Given the description of an element on the screen output the (x, y) to click on. 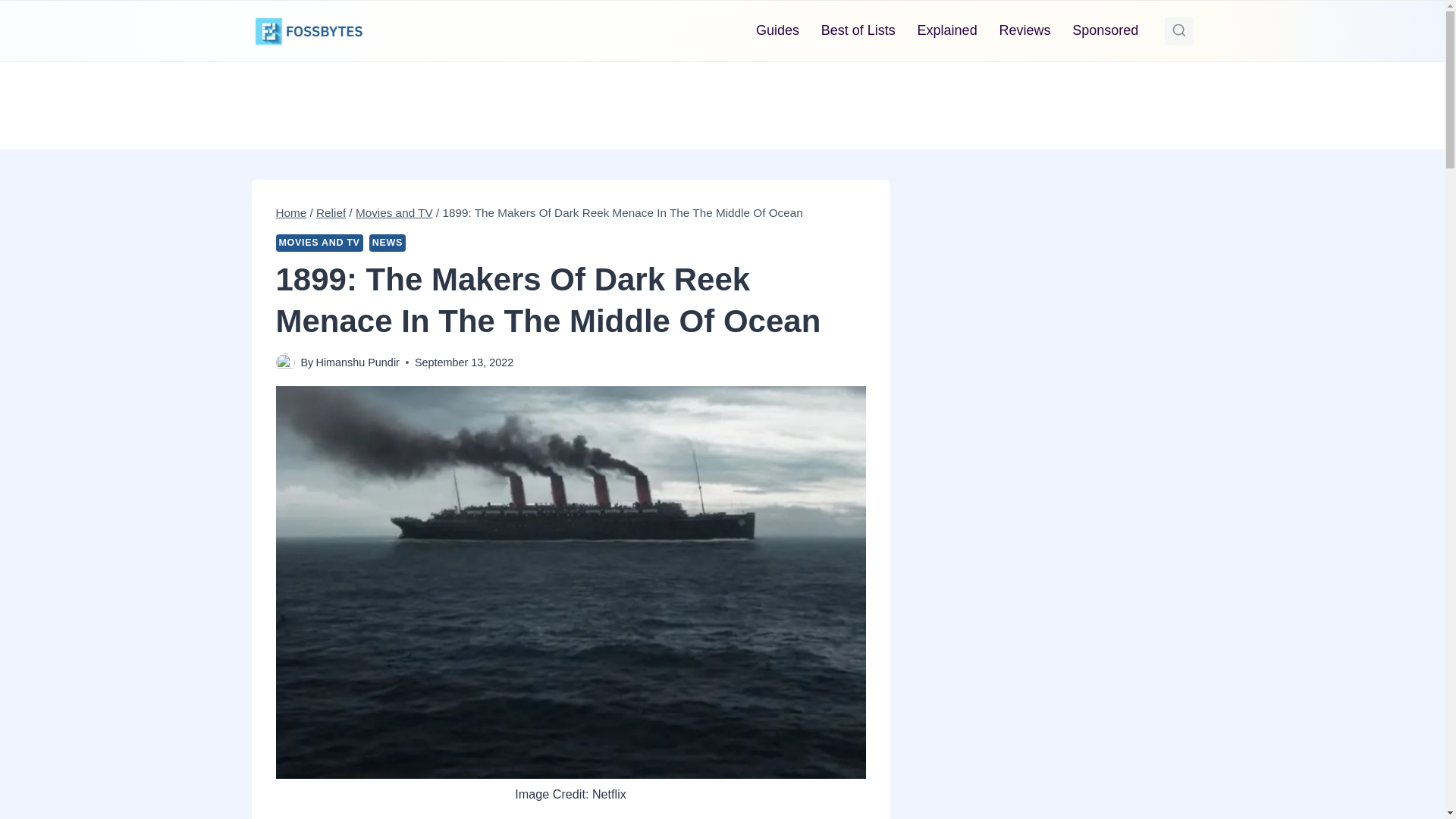
Guides (777, 30)
Reviews (1024, 30)
Best of Lists (857, 30)
Home (291, 212)
Advertisement (721, 101)
MOVIES AND TV (319, 242)
Sponsored (1105, 30)
NEWS (387, 242)
Relief (330, 212)
Explained (946, 30)
